Given the description of an element on the screen output the (x, y) to click on. 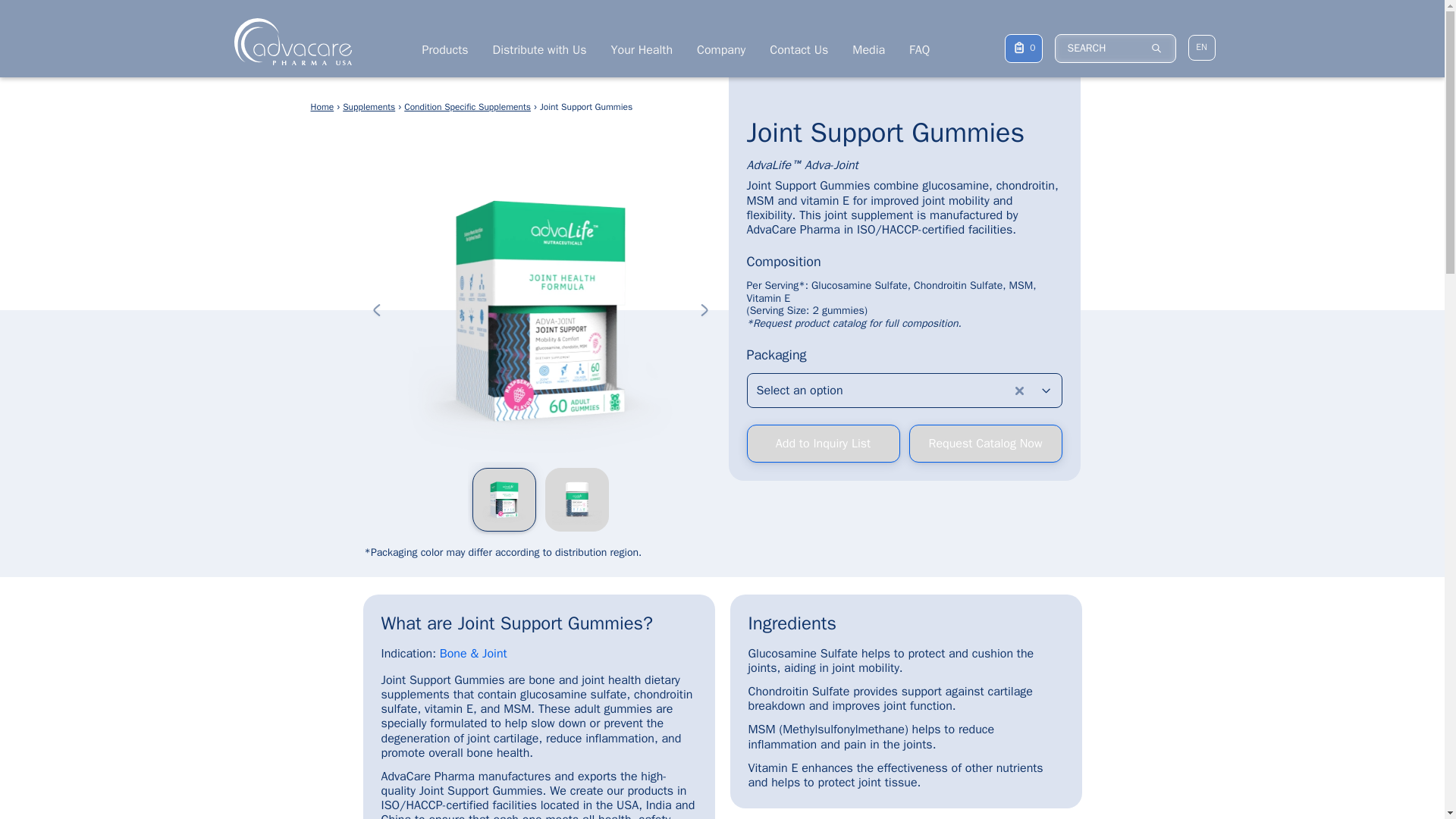
Contact Us (799, 49)
SEARCH (1114, 48)
EN (1201, 47)
Add to Inquiry List (822, 443)
Company (721, 49)
Distribute with Us (539, 49)
Condition Specific Supplements (467, 107)
Home (322, 107)
Your Health (641, 49)
Supplements (368, 107)
Request Catalog Now (984, 443)
